Given the description of an element on the screen output the (x, y) to click on. 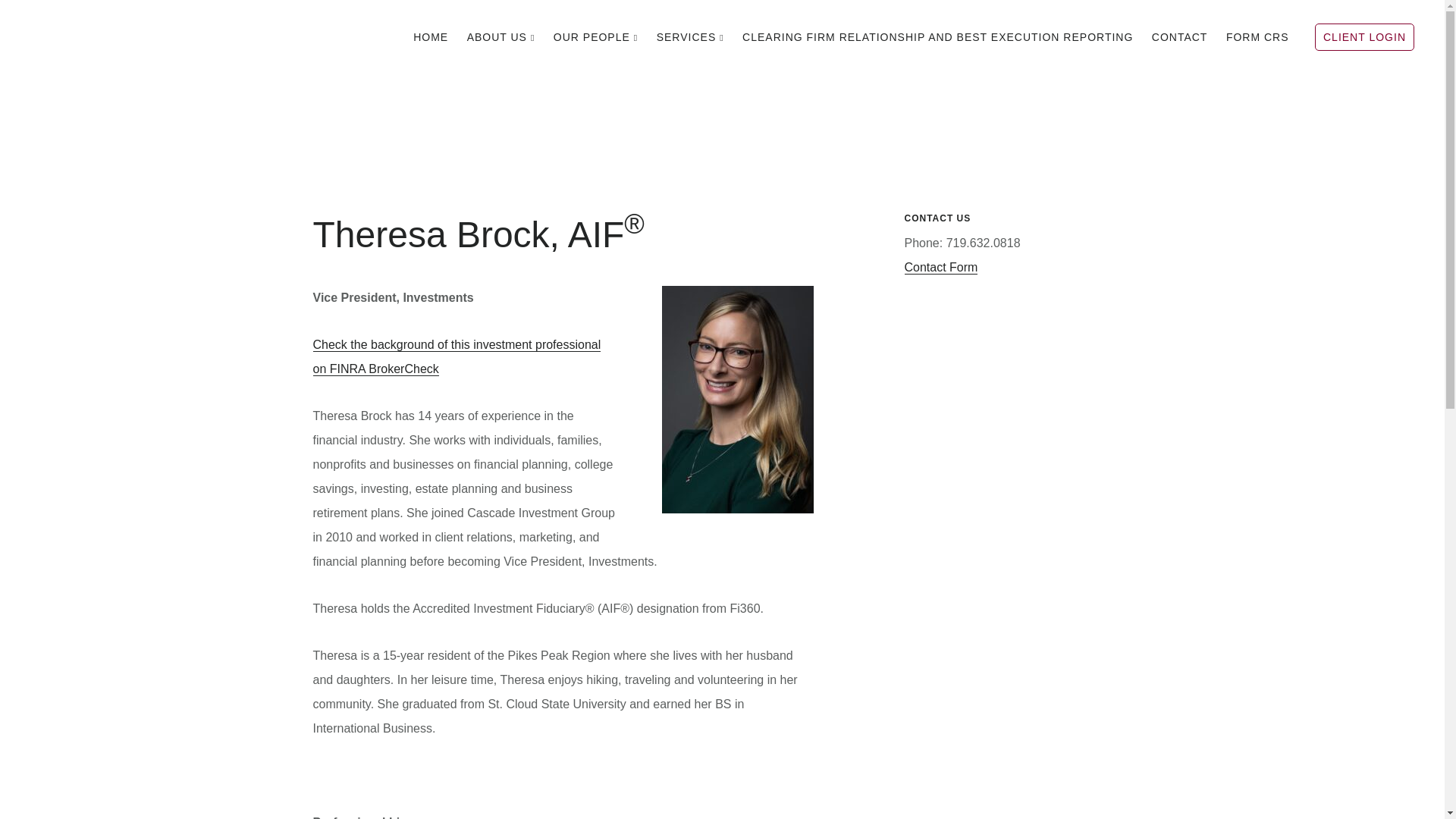
OUR PEOPLE (595, 36)
CLEARING FIRM RELATIONSHIP AND BEST EXECUTION REPORTING (937, 36)
Cascade Investment Group (143, 32)
Contact Form (940, 267)
HOME (430, 36)
ABOUT US (501, 36)
SERVICES (690, 36)
FORM CRS (1257, 36)
